Given the description of an element on the screen output the (x, y) to click on. 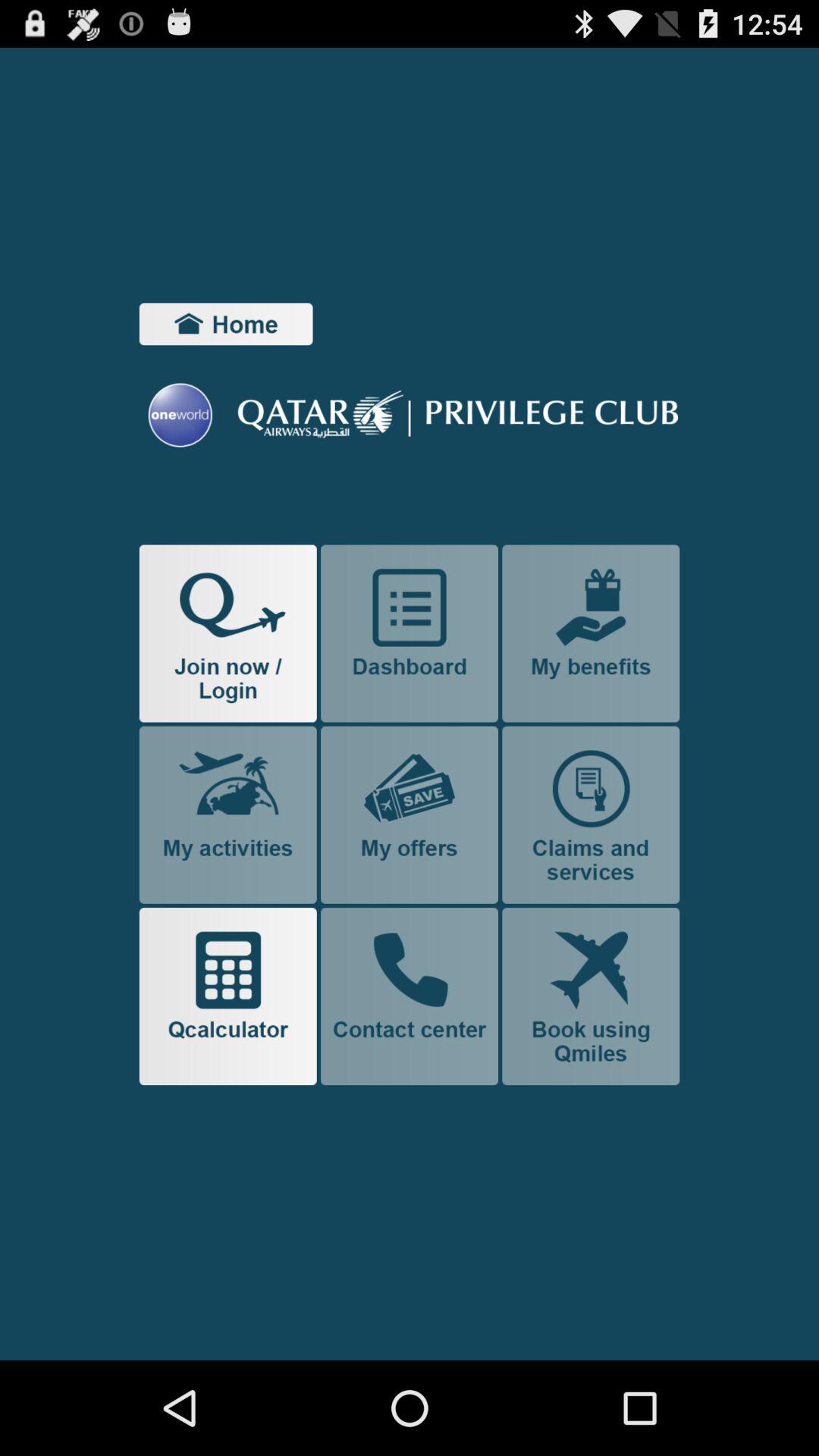
flight booking (590, 996)
